Given the description of an element on the screen output the (x, y) to click on. 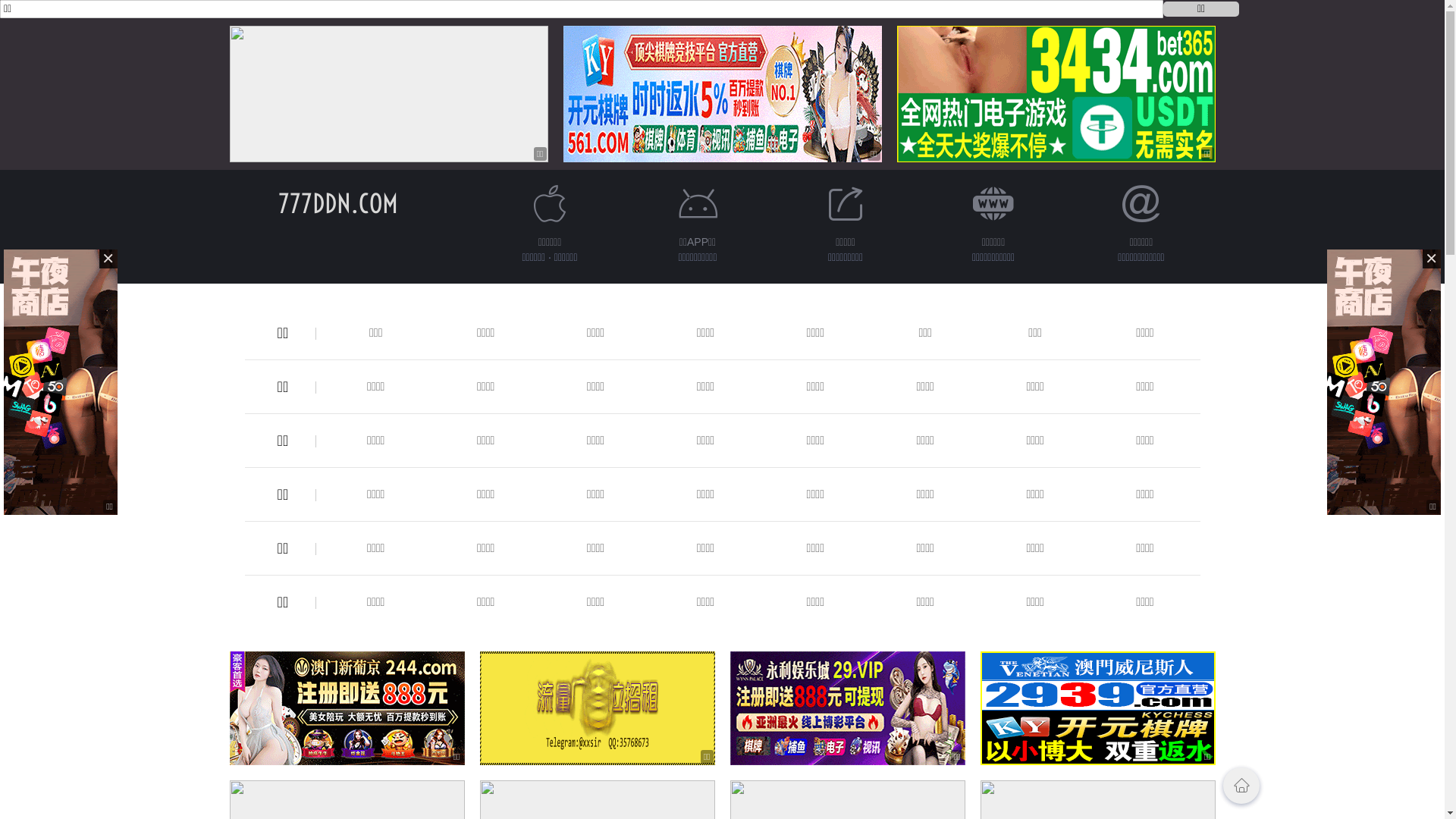
777DDN.COM Element type: text (337, 203)
